Given the description of an element on the screen output the (x, y) to click on. 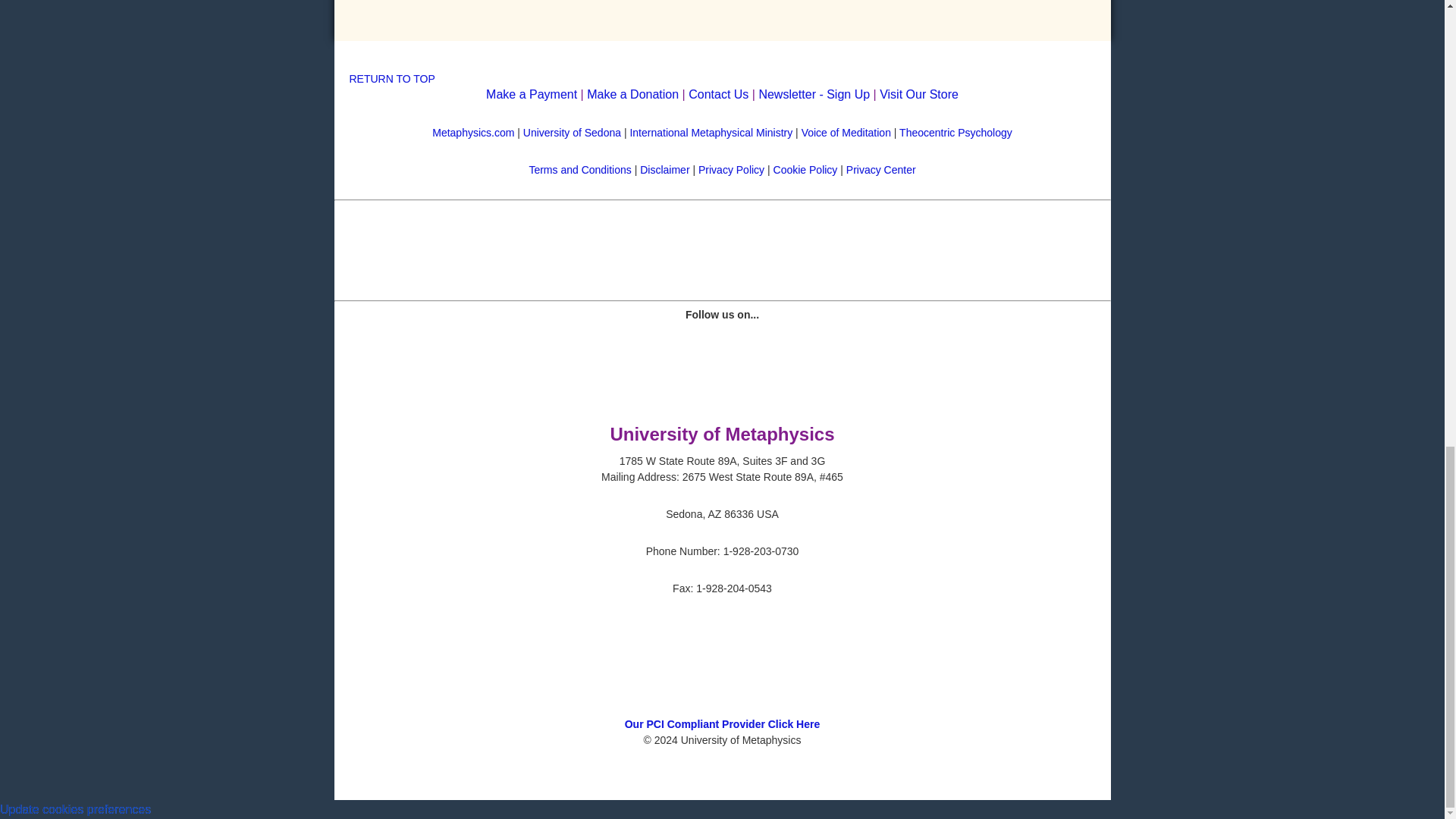
DMCA.com Protection Status (721, 707)
RETURN TO TOP (391, 78)
How PayPal Works (722, 270)
